Given the description of an element on the screen output the (x, y) to click on. 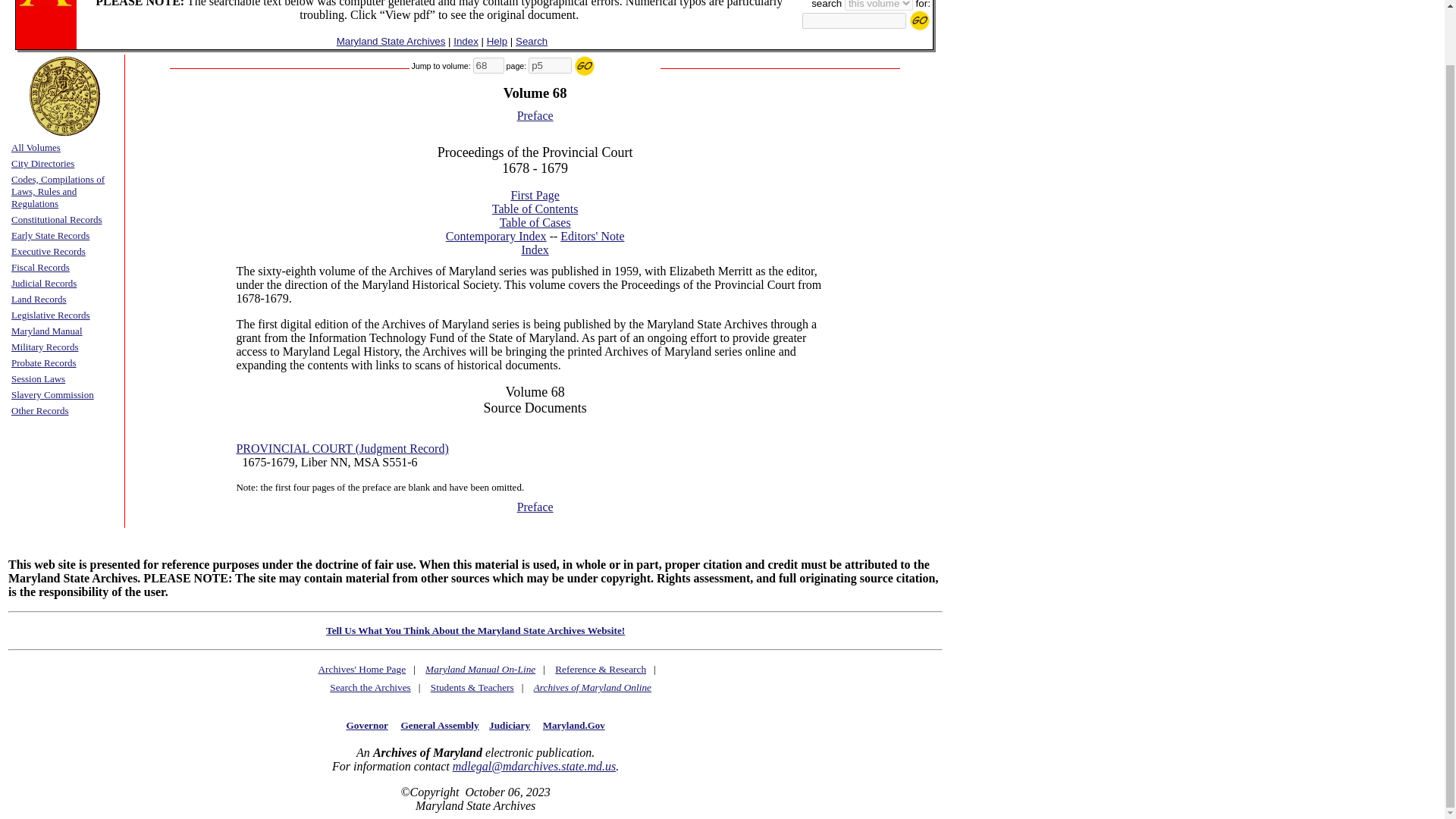
Fiscal Records (40, 266)
All Volumes (36, 146)
Legislative Records (50, 314)
Help (496, 41)
p5 (550, 65)
Maryland Manual On-Line (480, 668)
Constitutional Records (56, 218)
Preface (534, 506)
Archives of Maryland Online (592, 686)
Search (531, 41)
